Given the description of an element on the screen output the (x, y) to click on. 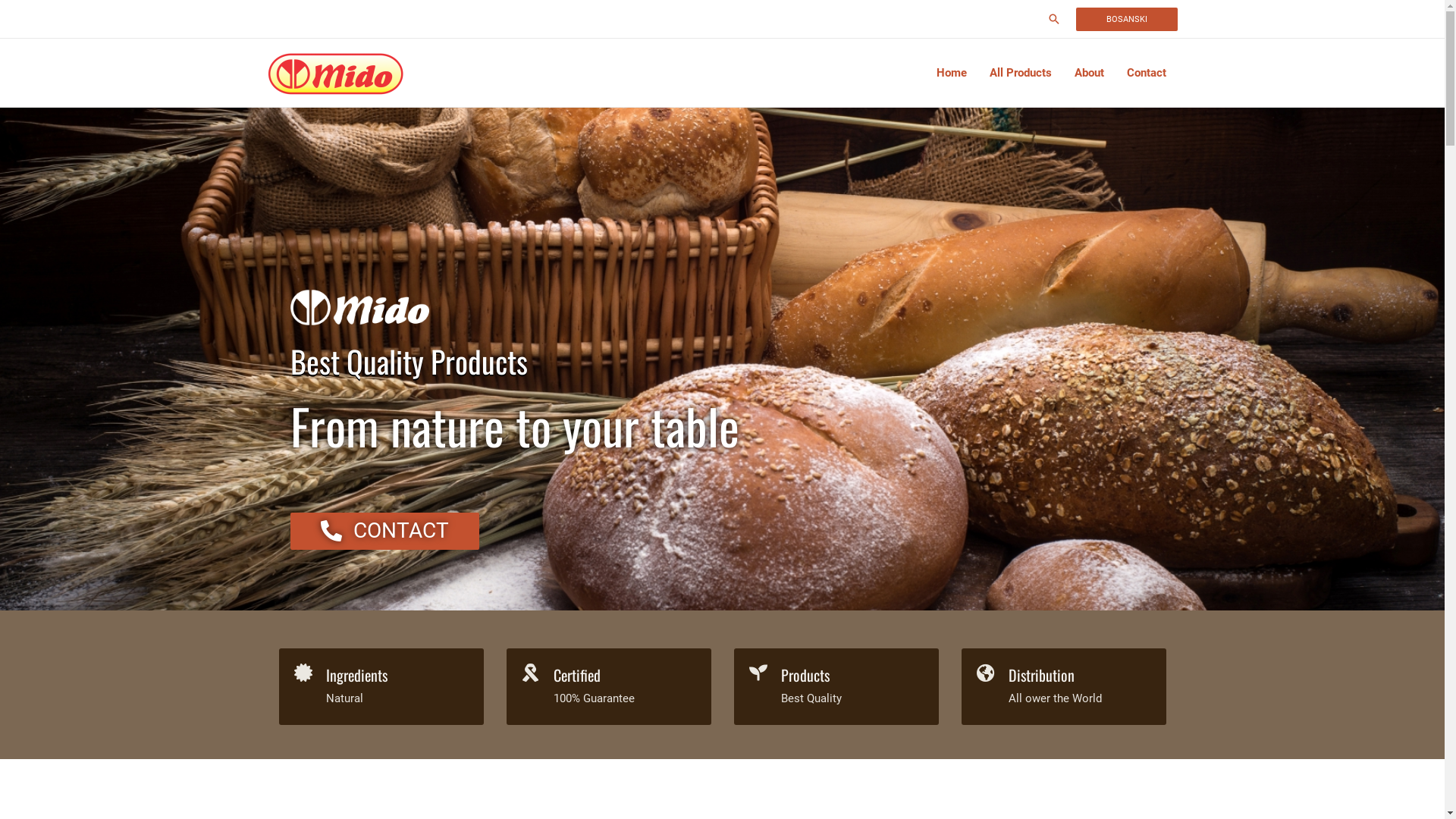
BOSANSKI Element type: text (1125, 19)
Products Element type: text (805, 674)
Certified Element type: text (576, 674)
All Products Element type: text (1020, 72)
Contact Element type: text (1145, 72)
Search Element type: text (37, 14)
CONTACT Element type: text (383, 530)
Distribution Element type: text (1041, 674)
Home Element type: text (951, 72)
Ingredients Element type: text (356, 674)
About Element type: text (1089, 72)
